Given the description of an element on the screen output the (x, y) to click on. 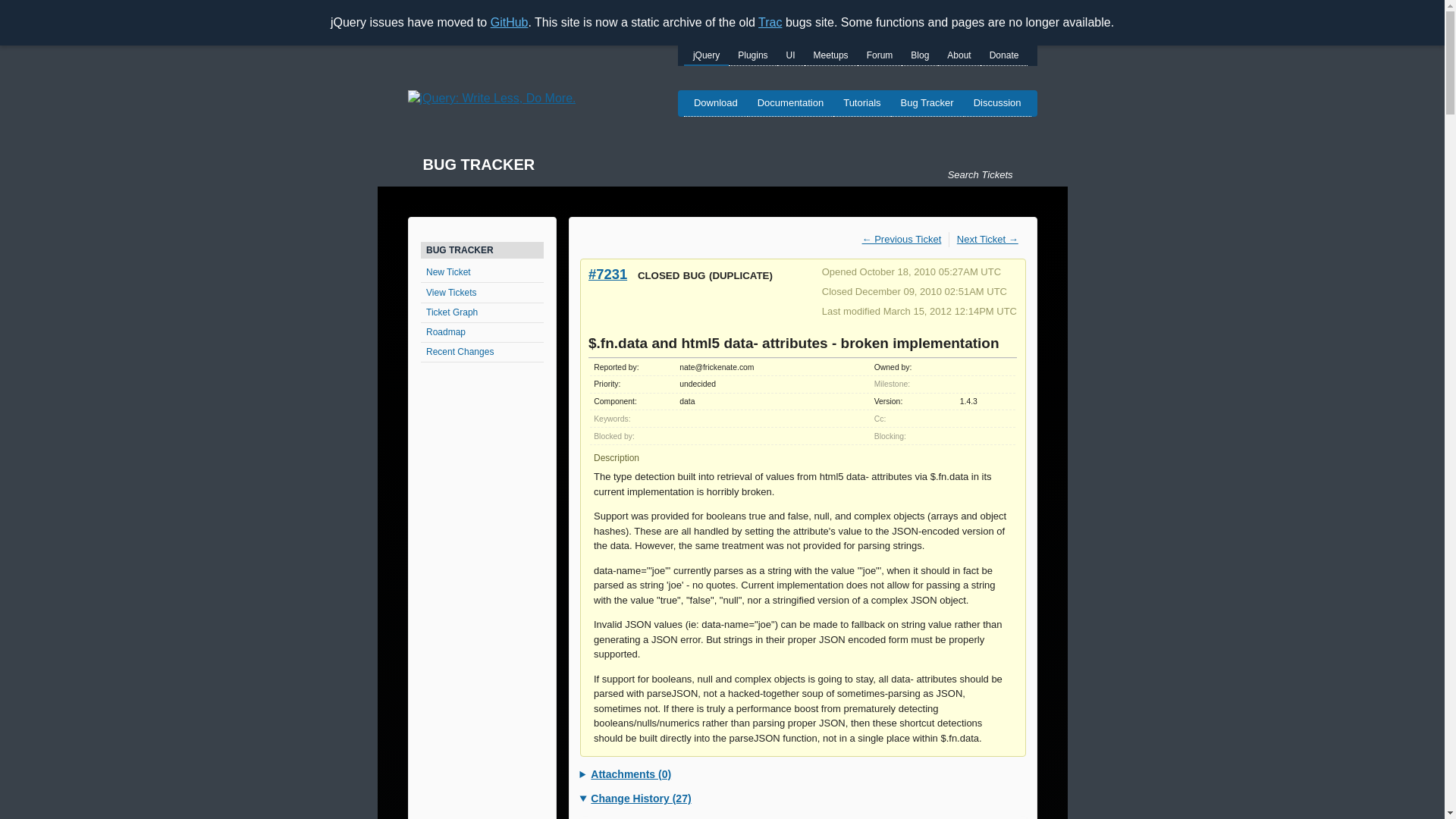
Trac (769, 21)
jQuery Meetups (831, 55)
About (958, 55)
Ticket Graph (481, 312)
Recent Changes (481, 352)
Documentation (790, 103)
jQuery Blog (919, 55)
jQuery Home (491, 98)
UI (791, 55)
comment:1 (1000, 817)
